Given the description of an element on the screen output the (x, y) to click on. 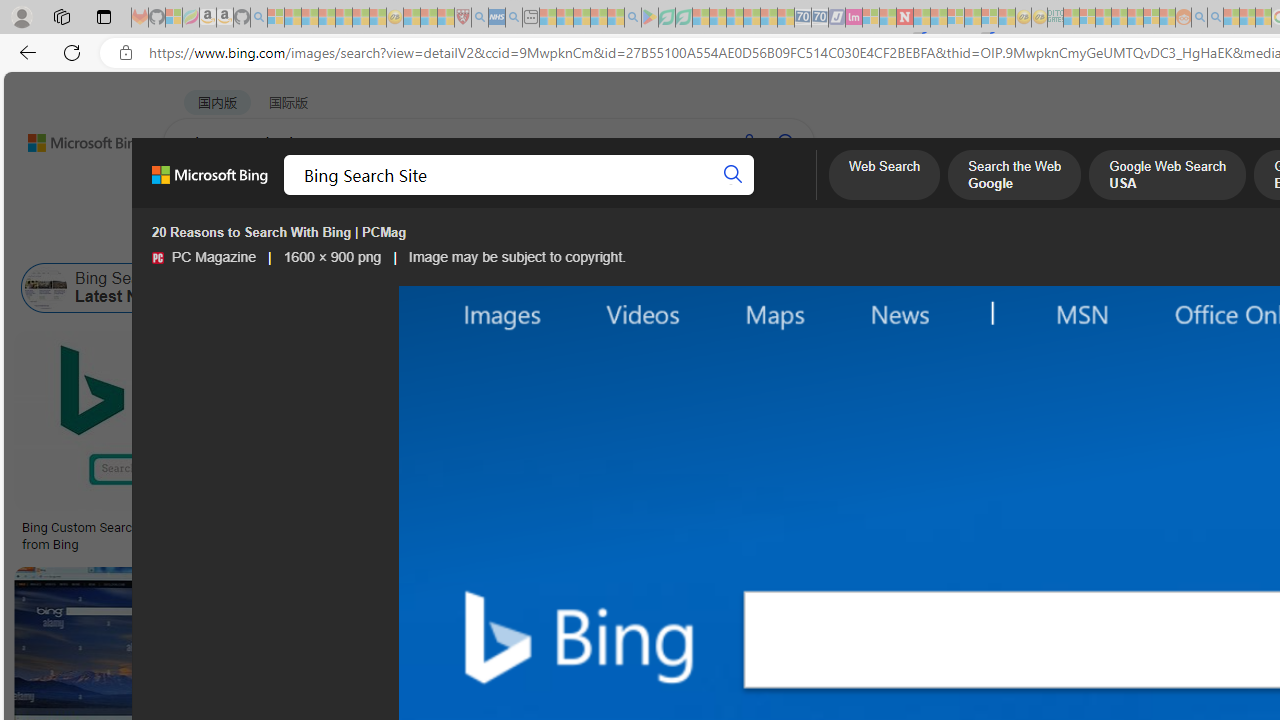
Search using voice (748, 142)
PC Magazine (157, 257)
Image may be subject to copyright. (516, 257)
Bing Advanced Search Tricks You Should Know (810, 528)
License (664, 237)
PC Magazine PC Magazine (203, 257)
Bing Custom Search: A New Site Search Solution from BingSave (174, 444)
Dropdown Menu (793, 195)
